Given the description of an element on the screen output the (x, y) to click on. 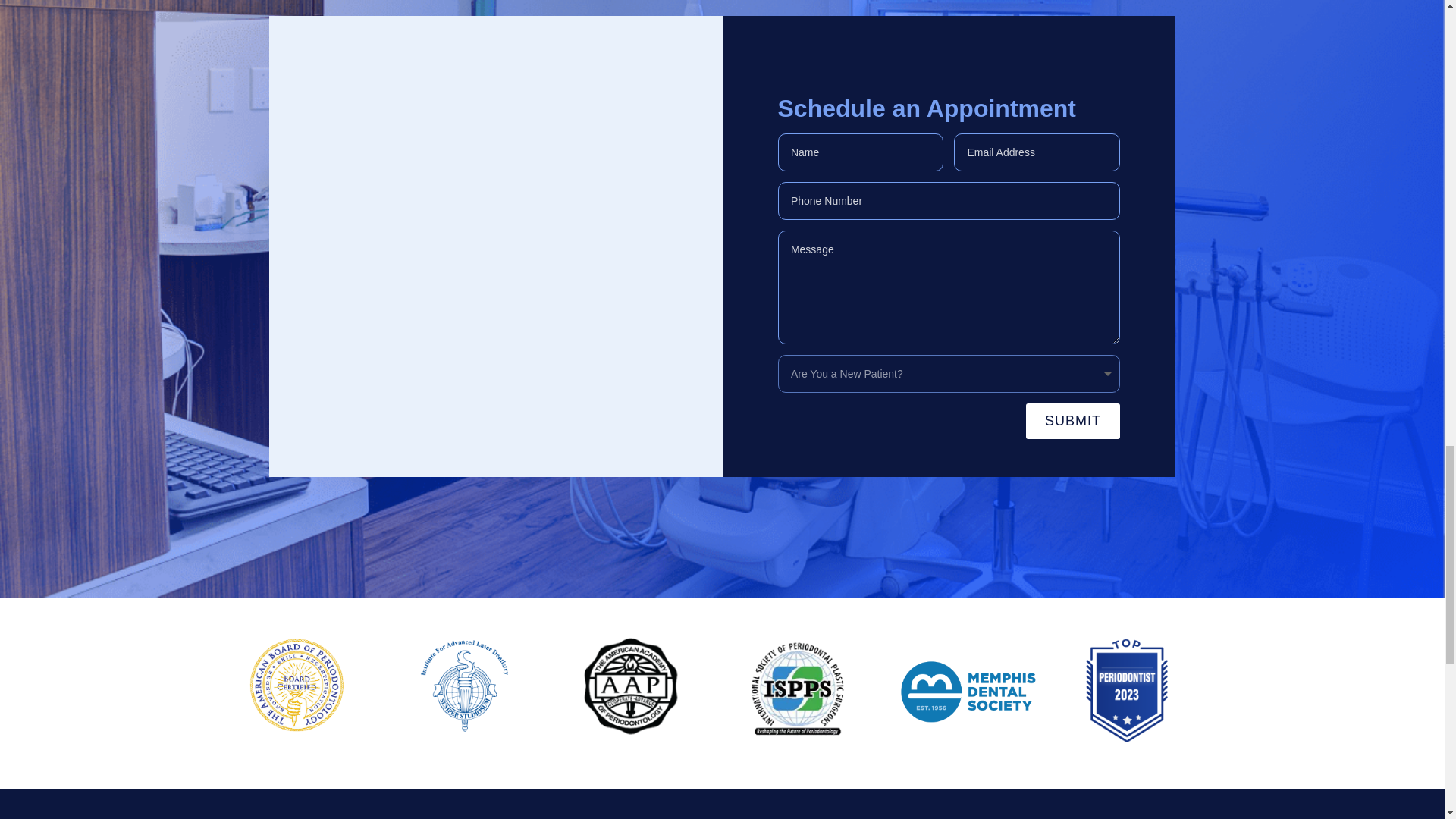
AWARDS footer-36 (463, 686)
AWARDS footer-37 (630, 686)
AWARDS footer-35 (297, 686)
AWARDS footer-40 (1128, 690)
AWARDS footer-39 (967, 692)
AWARDS footer-38 (796, 689)
